Given the description of an element on the screen output the (x, y) to click on. 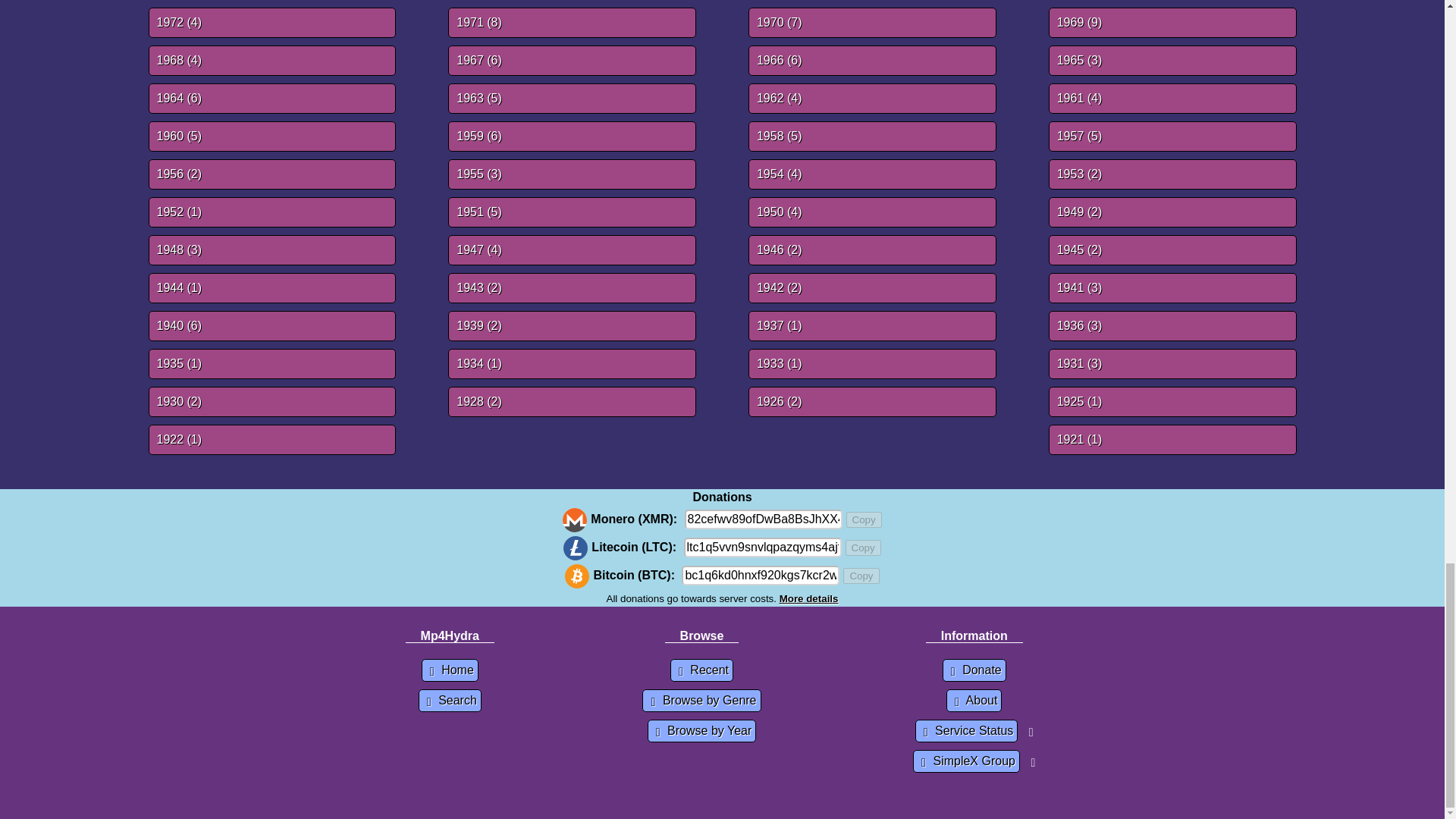
ltc1q5vvn9snvlqpazqyms4ajt0hfyknjsw52662nwg (762, 547)
bc1q6kd0hnxf920kgs7kcr2welzxru0cm7j4y2cla5 (760, 575)
